Given the description of an element on the screen output the (x, y) to click on. 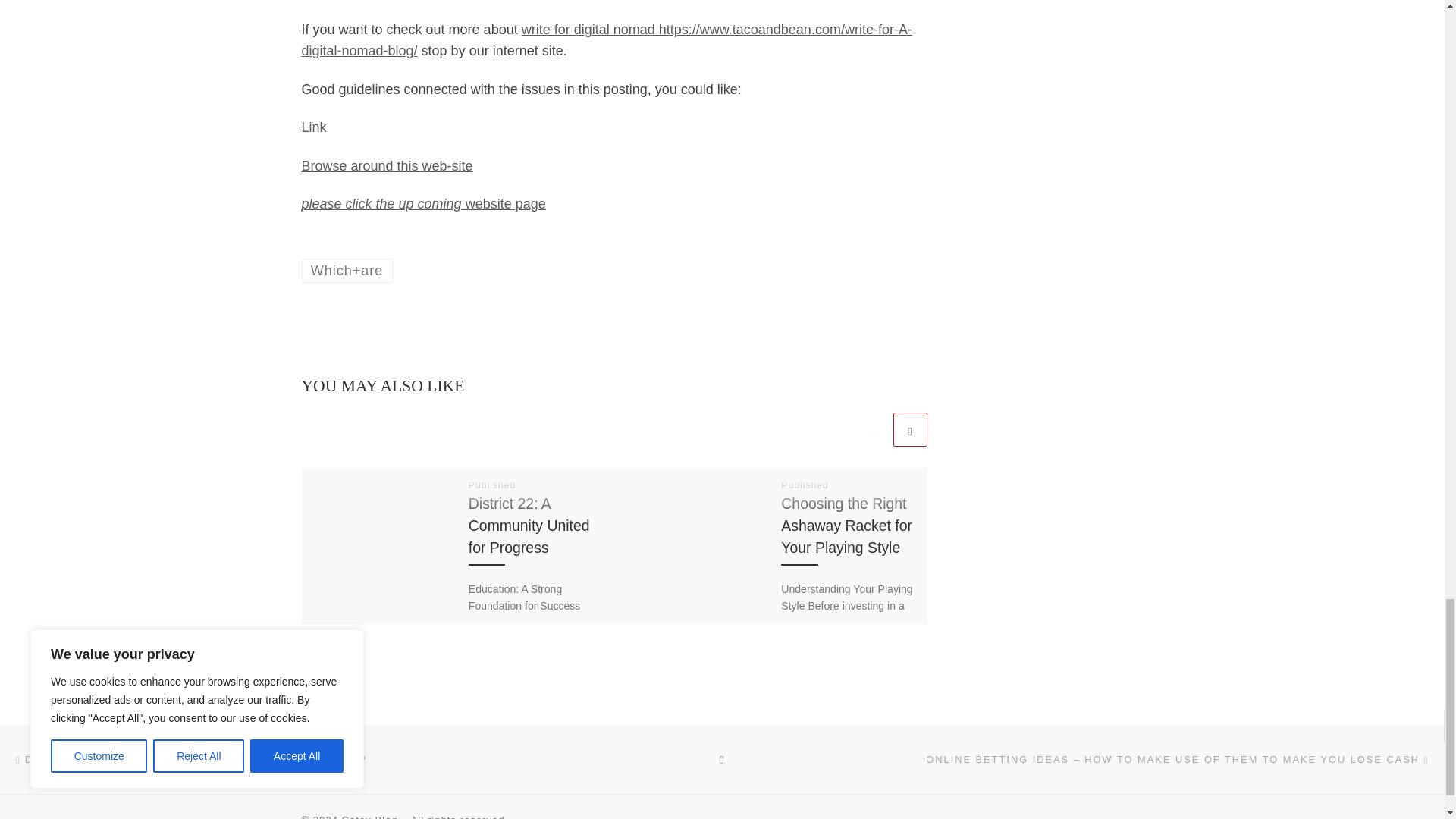
Catav Blog (369, 816)
Link (313, 127)
Next related articles (910, 429)
Browse around this web-site (387, 165)
Previous related articles (872, 429)
please click the up coming website page (423, 203)
